Given the description of an element on the screen output the (x, y) to click on. 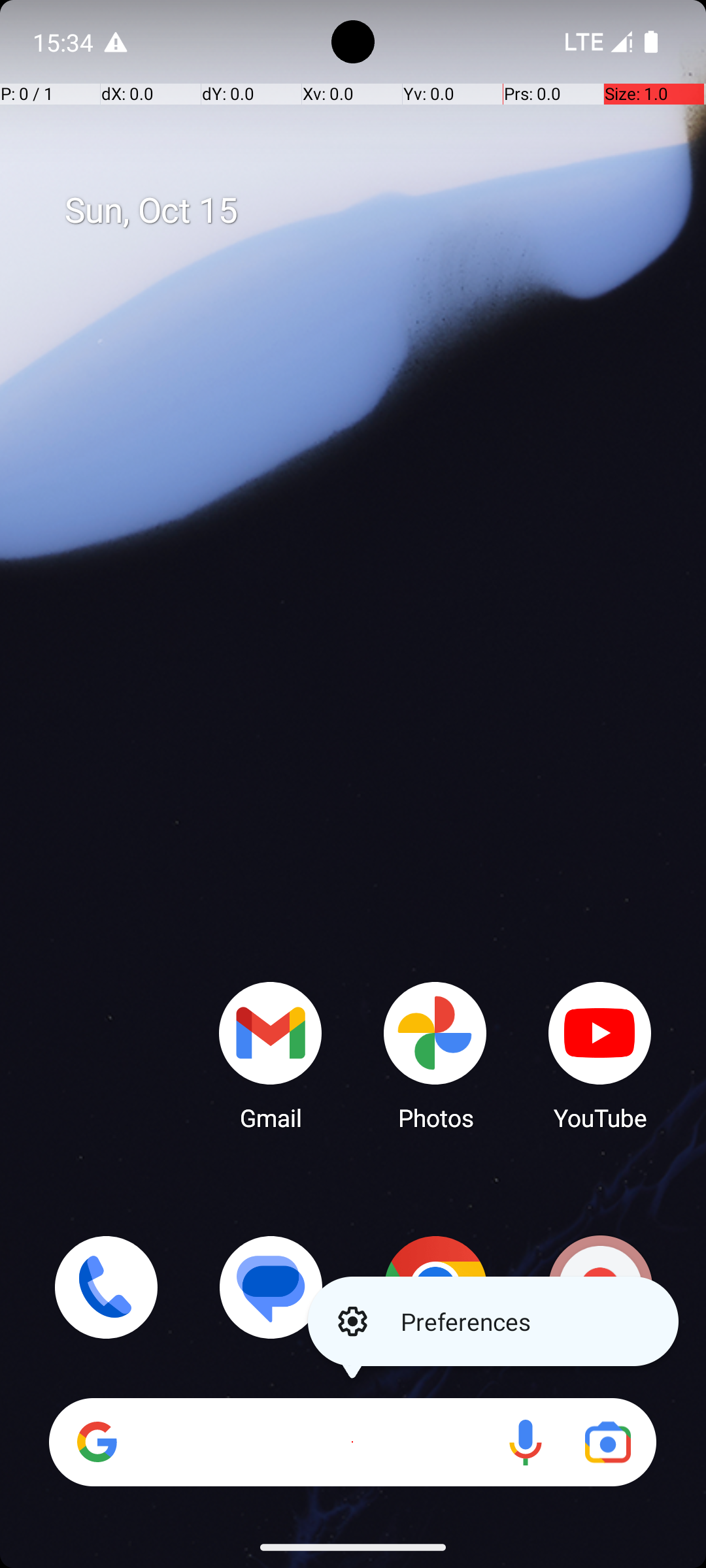
Preferences Element type: android.widget.TextView (492, 1321)
